Given the description of an element on the screen output the (x, y) to click on. 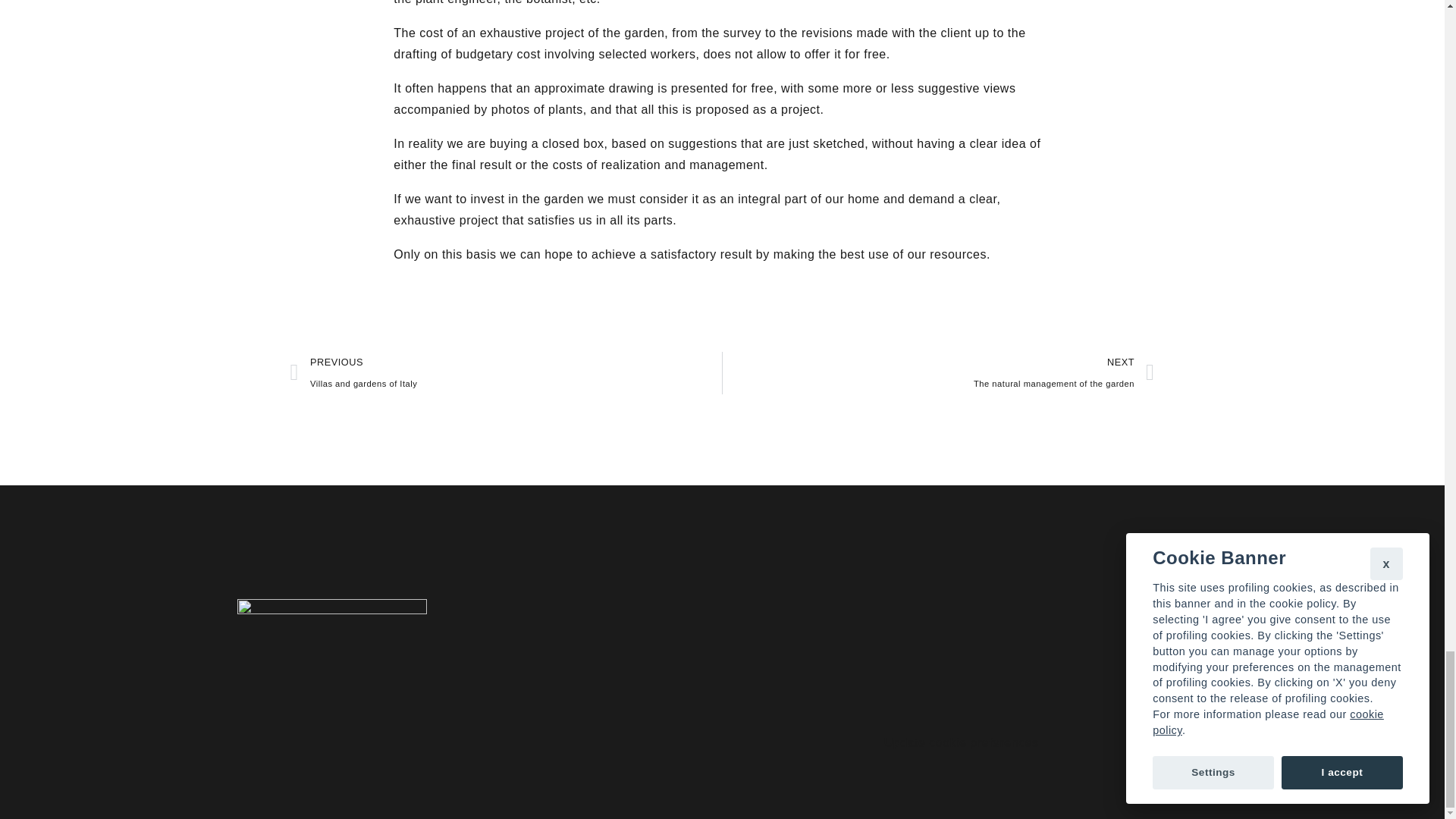
Update cookie preferences (938, 372)
